Given the description of an element on the screen output the (x, y) to click on. 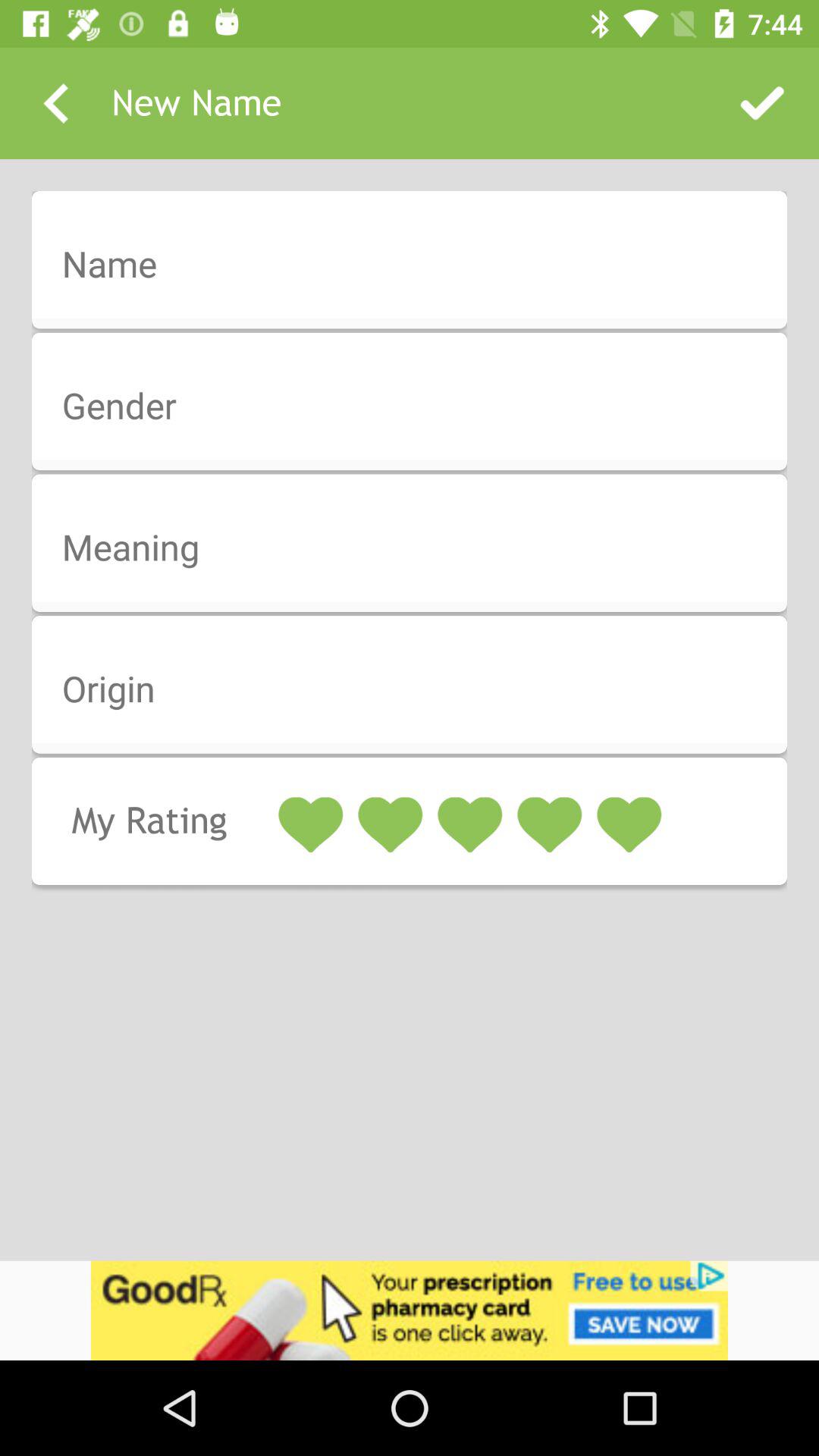
view advertisement (409, 1310)
